Given the description of an element on the screen output the (x, y) to click on. 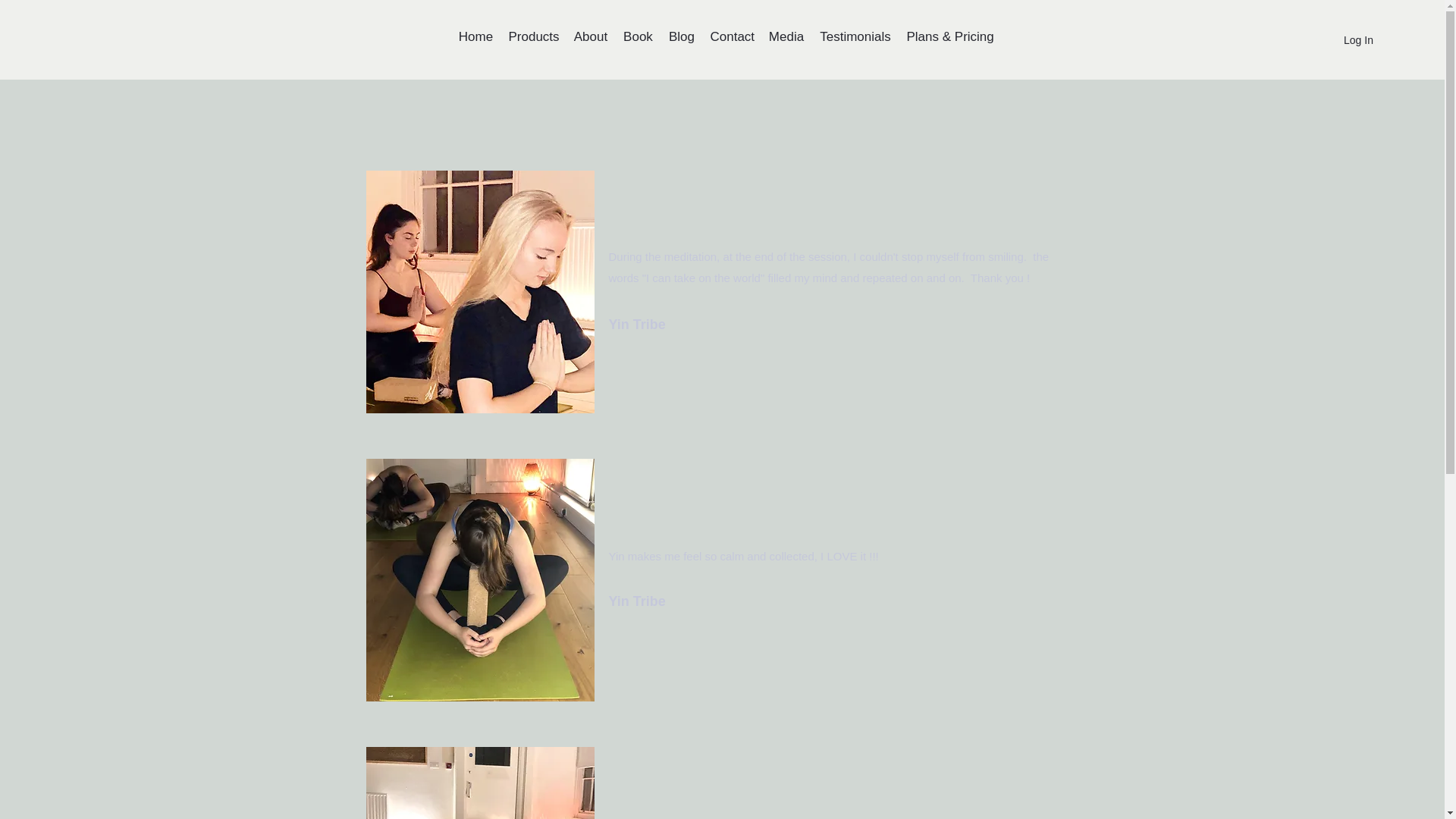
Contact (730, 36)
Testimonials (854, 36)
Home (474, 36)
Book (637, 36)
Products (533, 36)
Blog (681, 36)
Log In (1345, 40)
Media (785, 36)
About (590, 36)
